Given the description of an element on the screen output the (x, y) to click on. 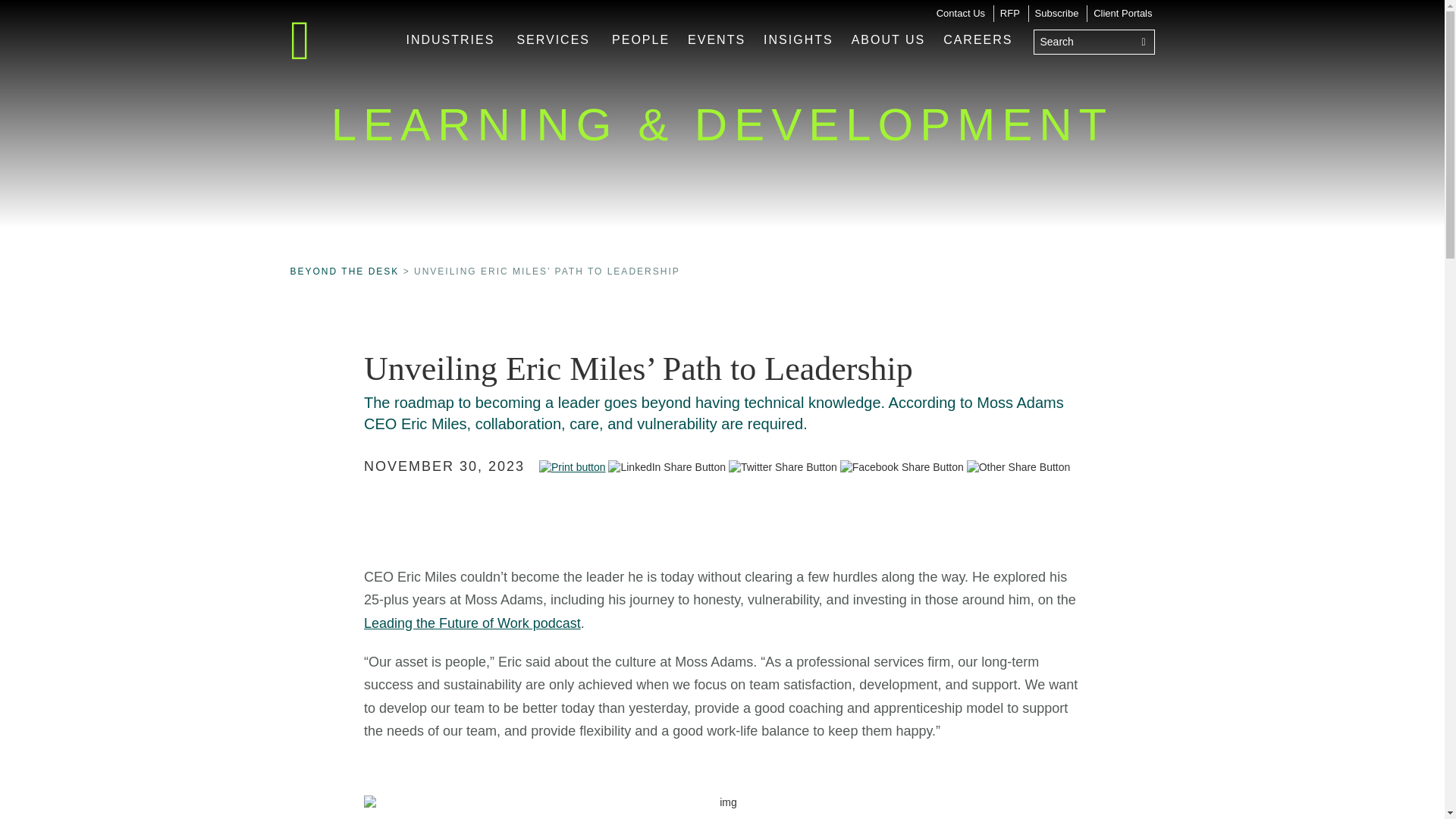
INDUSTRIES (449, 39)
SERVICES (552, 39)
